Given the description of an element on the screen output the (x, y) to click on. 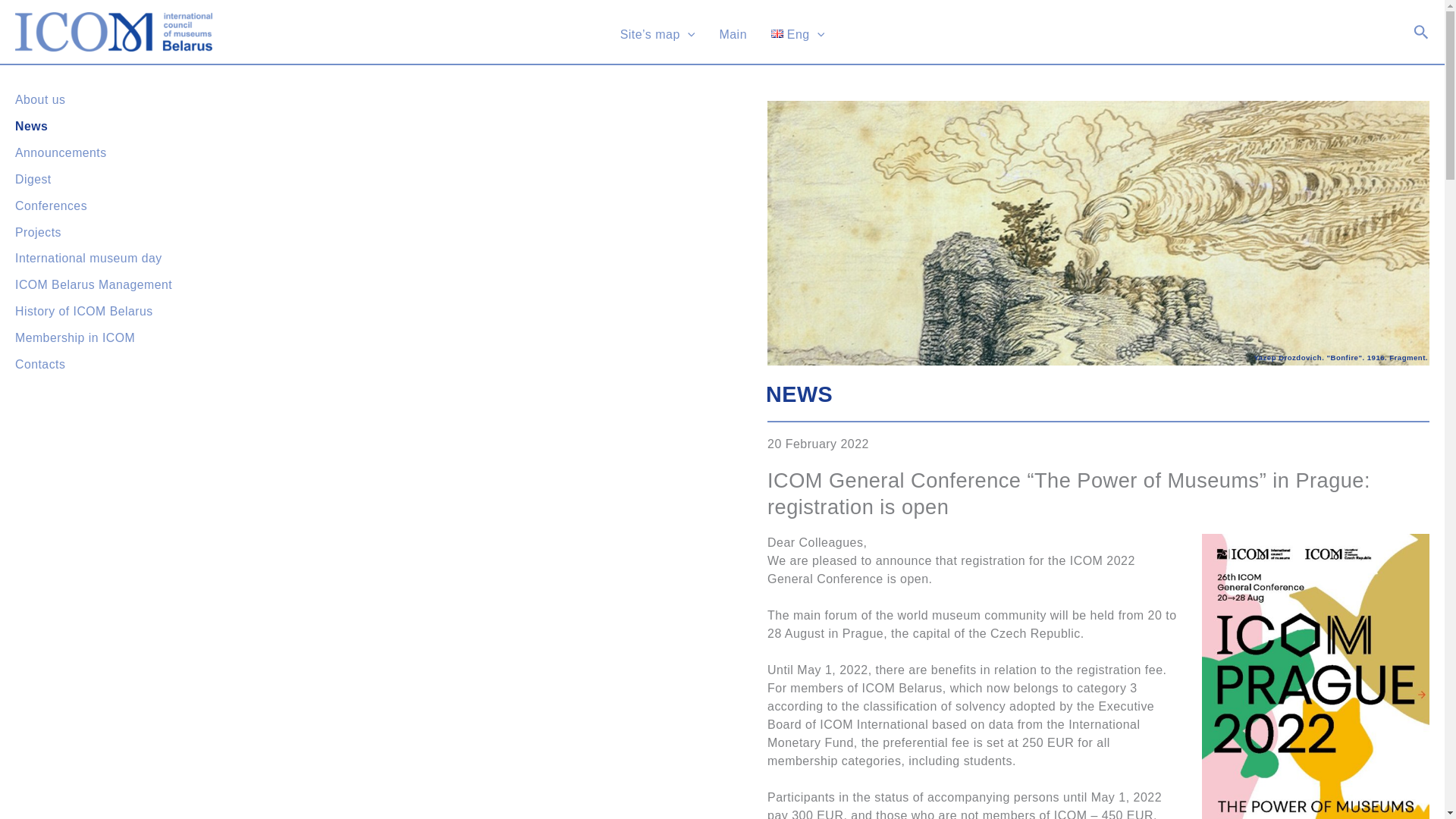
Search (1421, 33)
Eng (796, 31)
Main (732, 31)
